Given the description of an element on the screen output the (x, y) to click on. 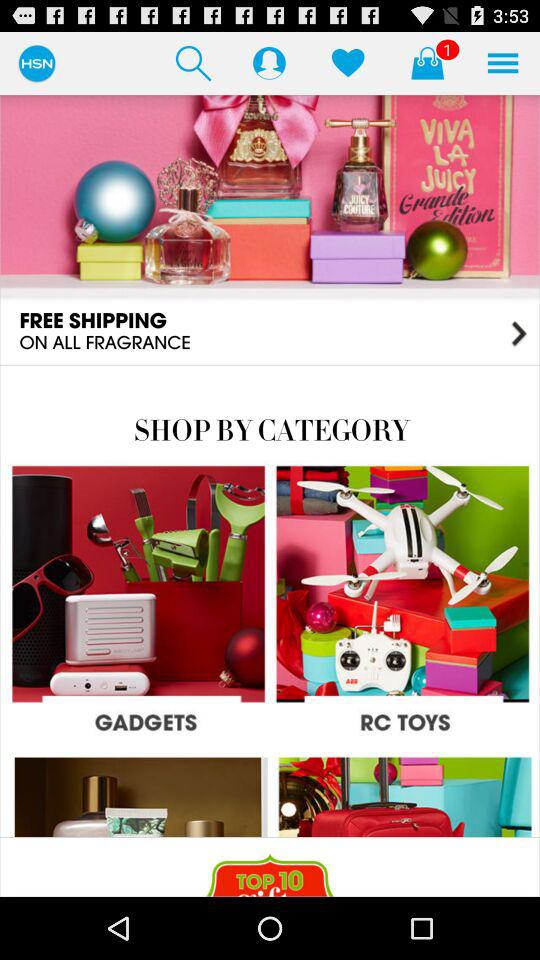
display items the user has hearted (348, 62)
